Given the description of an element on the screen output the (x, y) to click on. 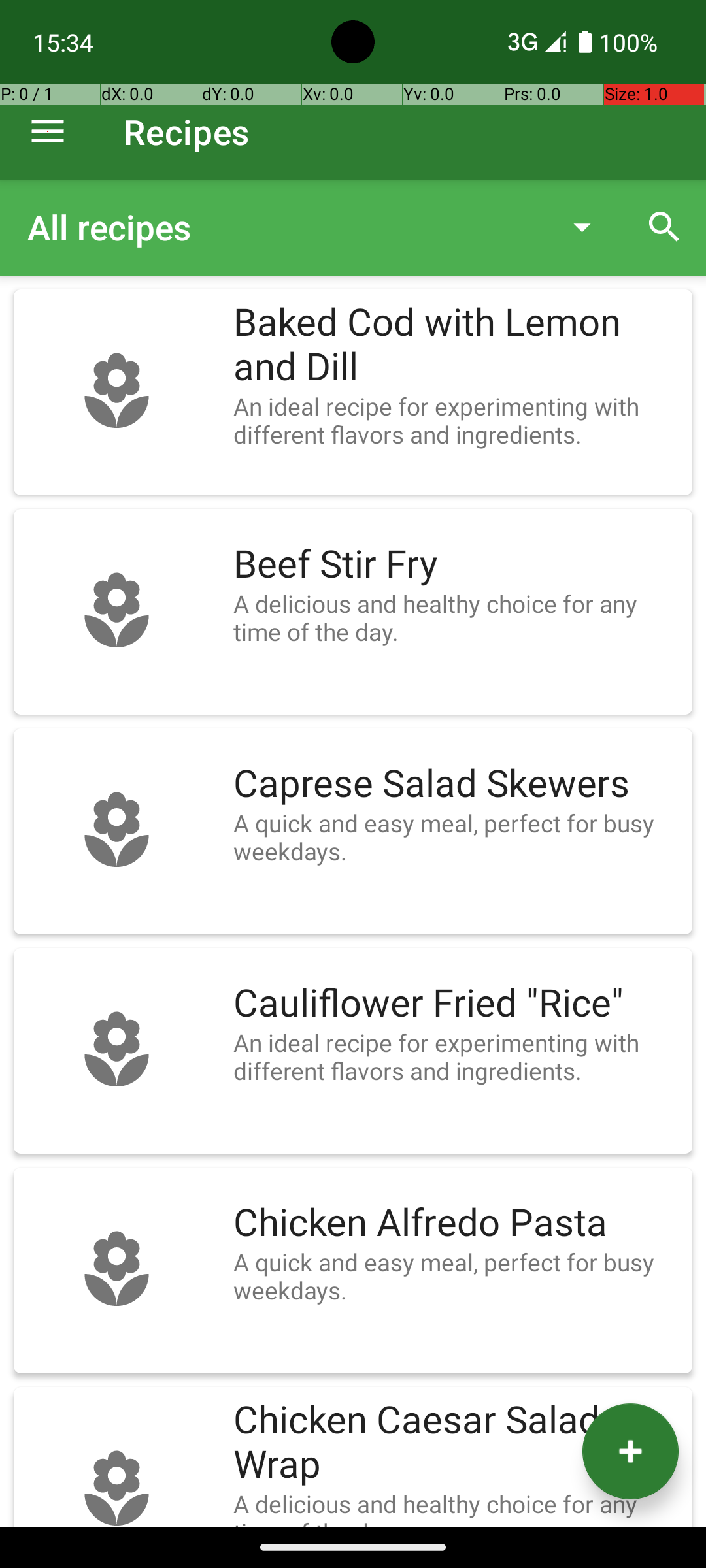
Recipes Element type: android.widget.TextView (186, 131)
Categories Element type: android.widget.Spinner (324, 227)
New Recipe Element type: android.widget.ImageButton (630, 1451)
All recipes Element type: android.widget.TextView (283, 226)
Recipe photo Element type: android.widget.ImageView (116, 392)
Baked Cod with Lemon and Dill Element type: android.widget.TextView (455, 344)
An ideal recipe for experimenting with different flavors and ingredients. Element type: android.widget.TextView (455, 419)
Beef Stir Fry Element type: android.widget.TextView (455, 564)
A delicious and healthy choice for any time of the day. Element type: android.widget.TextView (455, 617)
Caprese Salad Skewers Element type: android.widget.TextView (455, 783)
A quick and easy meal, perfect for busy weekdays. Element type: android.widget.TextView (455, 836)
Cauliflower Fried "Rice" Element type: android.widget.TextView (455, 1003)
Chicken Alfredo Pasta Element type: android.widget.TextView (455, 1222)
Chicken Caesar Salad Wrap Element type: android.widget.TextView (455, 1442)
